Given the description of an element on the screen output the (x, y) to click on. 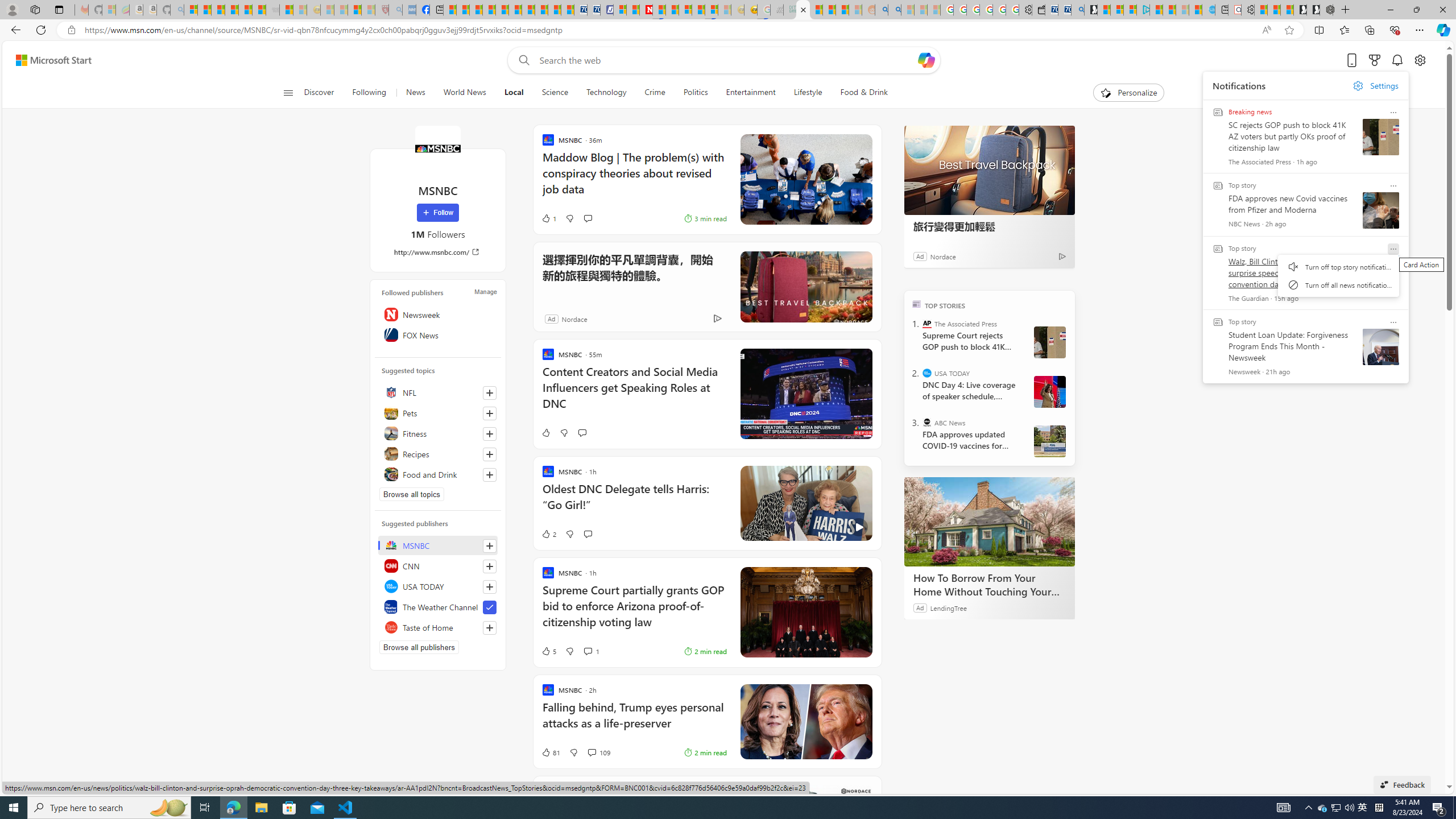
1 Like (547, 218)
